Given the description of an element on the screen output the (x, y) to click on. 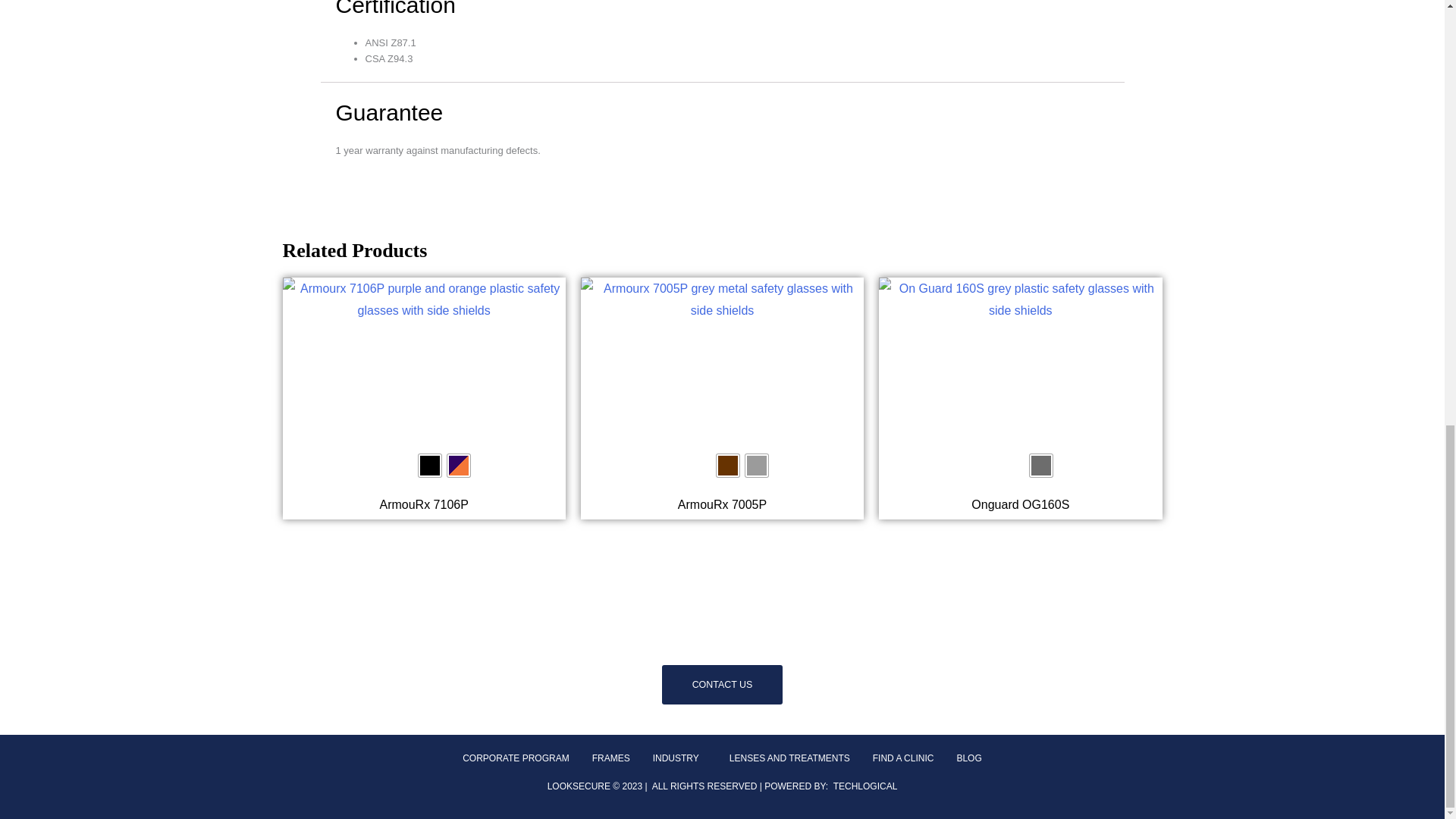
Grey (756, 465)
Brown (727, 465)
Black (430, 465)
Grey (1040, 465)
